Given the description of an element on the screen output the (x, y) to click on. 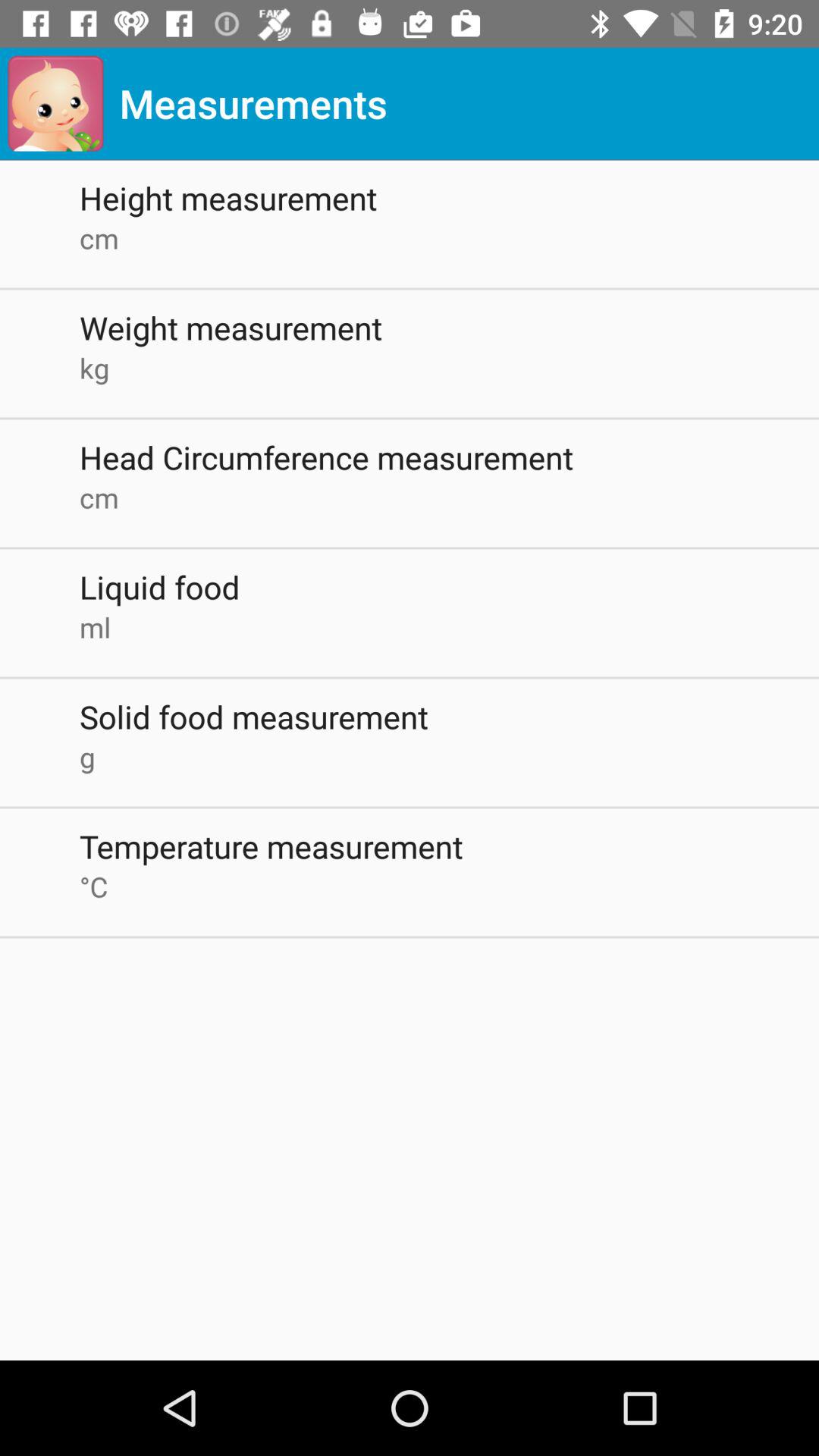
press icon below the temperature measurement (449, 886)
